Given the description of an element on the screen output the (x, y) to click on. 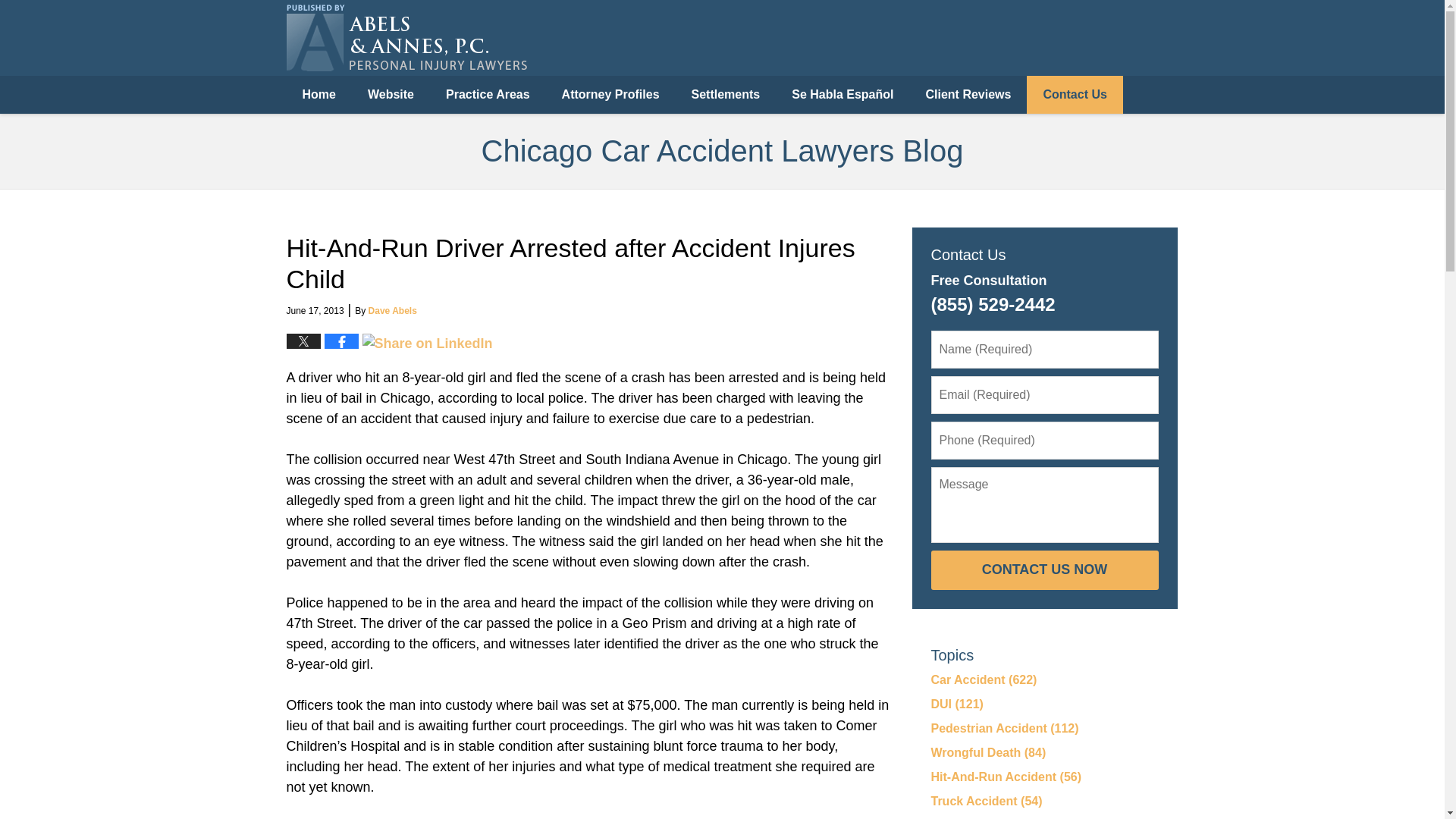
Chicago Car Accident Lawyers Blog (406, 37)
Se habla espanol (1119, 61)
Contact Us (1074, 94)
CONTACT US NOW (1044, 569)
Home (319, 94)
Mowimy po polsku (945, 61)
Attorney Profiles (610, 94)
Practice Areas (487, 94)
Please enter a valid phone number. (1044, 440)
Settlements (725, 94)
